Given the description of an element on the screen output the (x, y) to click on. 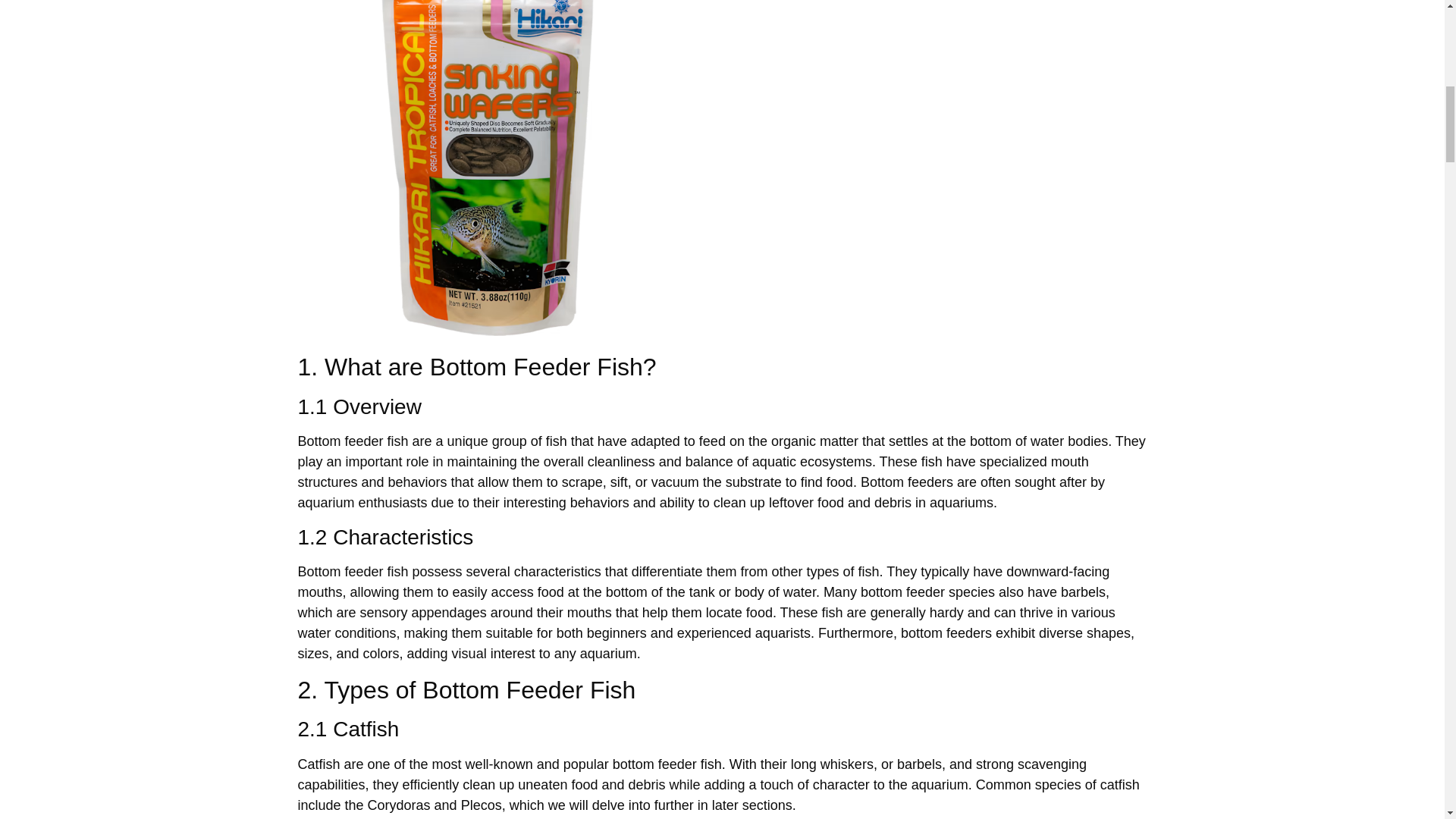
The Ultimate Guide to Bottom Feeder Fish Food (487, 167)
